Given the description of an element on the screen output the (x, y) to click on. 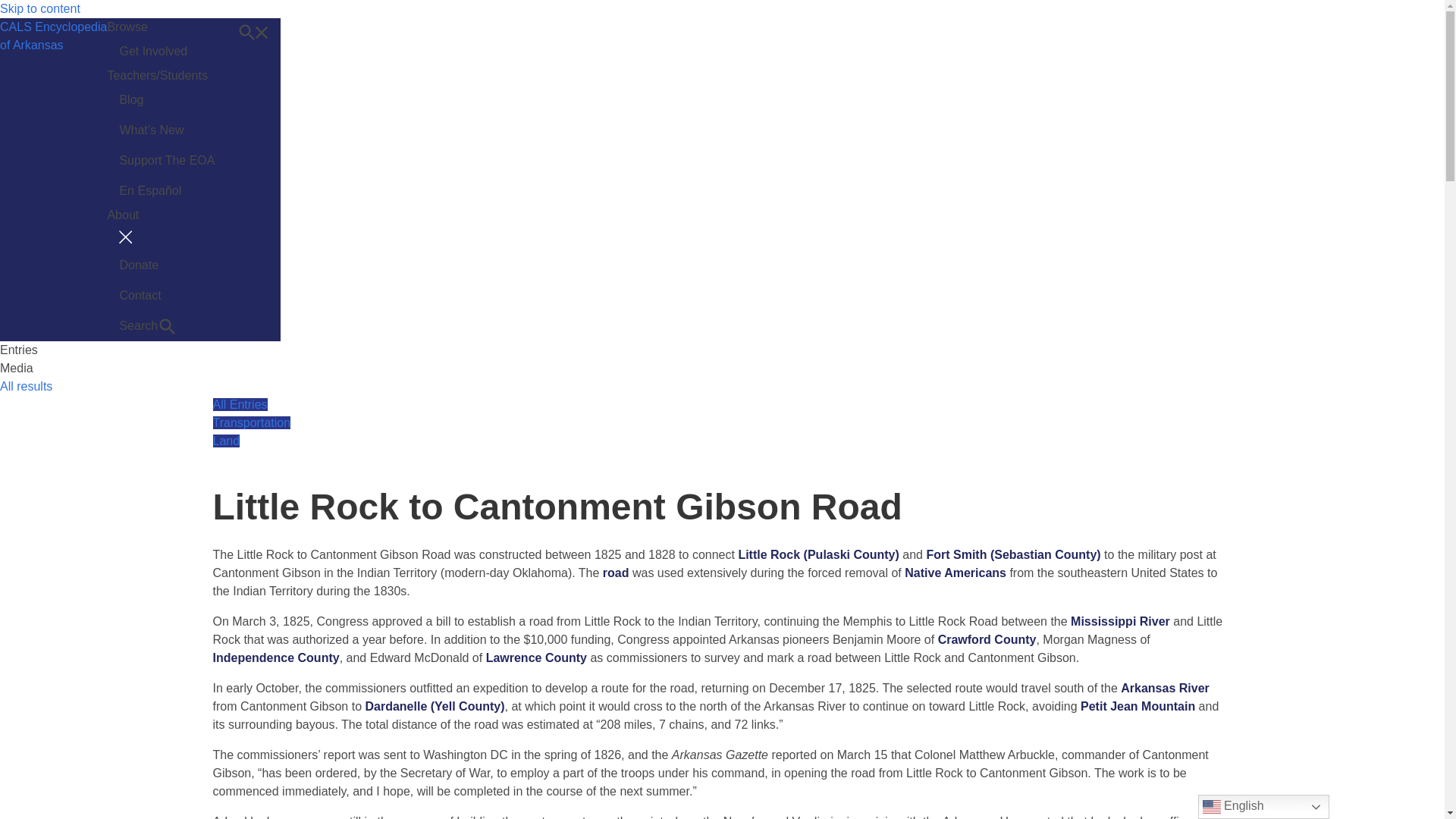
Support The EOA (166, 160)
Get Involved (166, 51)
Blog (166, 100)
Skip to content (53, 179)
